Given the description of an element on the screen output the (x, y) to click on. 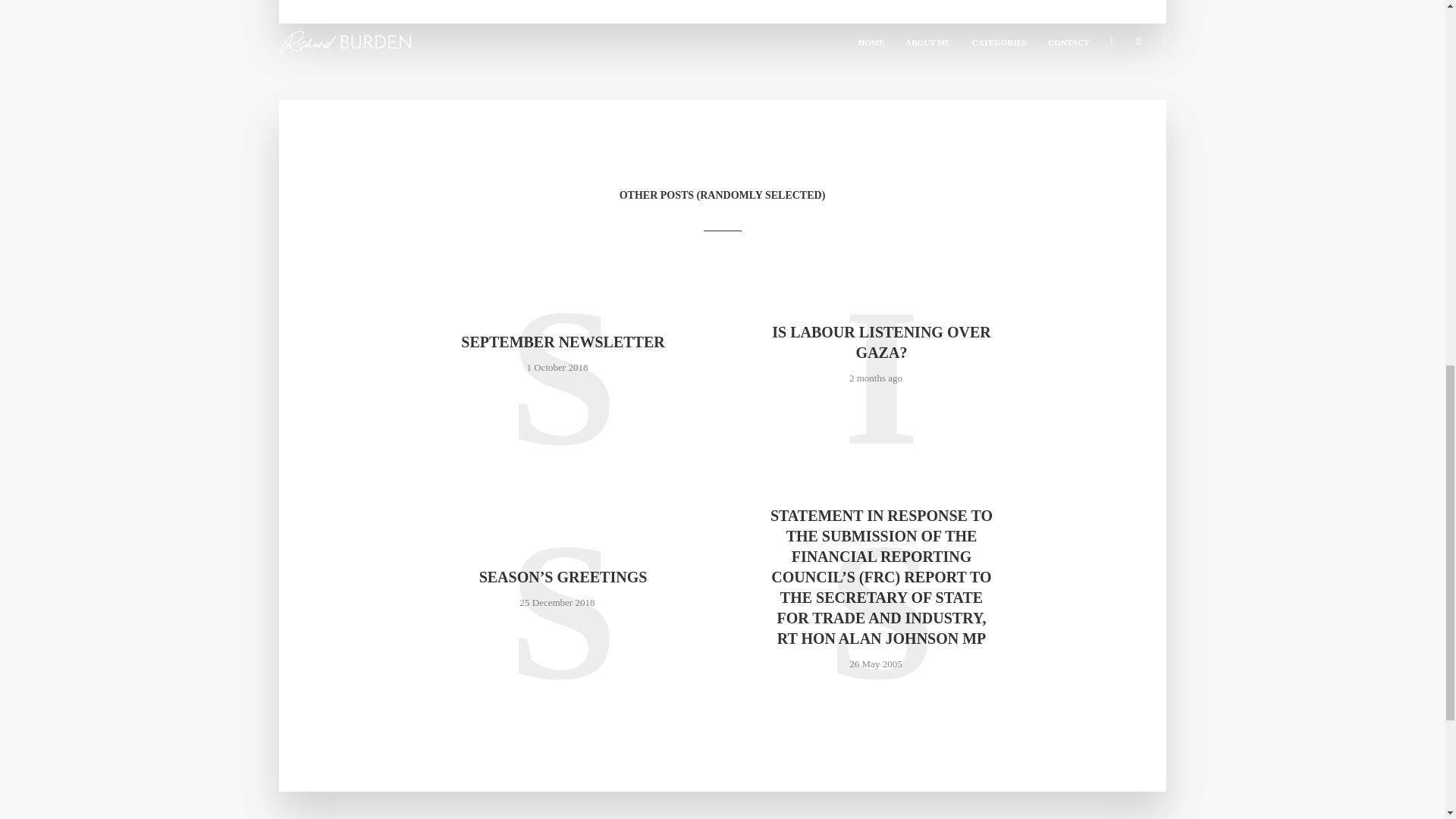
IS LABOUR LISTENING OVER GAZA? (880, 342)
SEPTEMBER NEWSLETTER (562, 342)
